Given the description of an element on the screen output the (x, y) to click on. 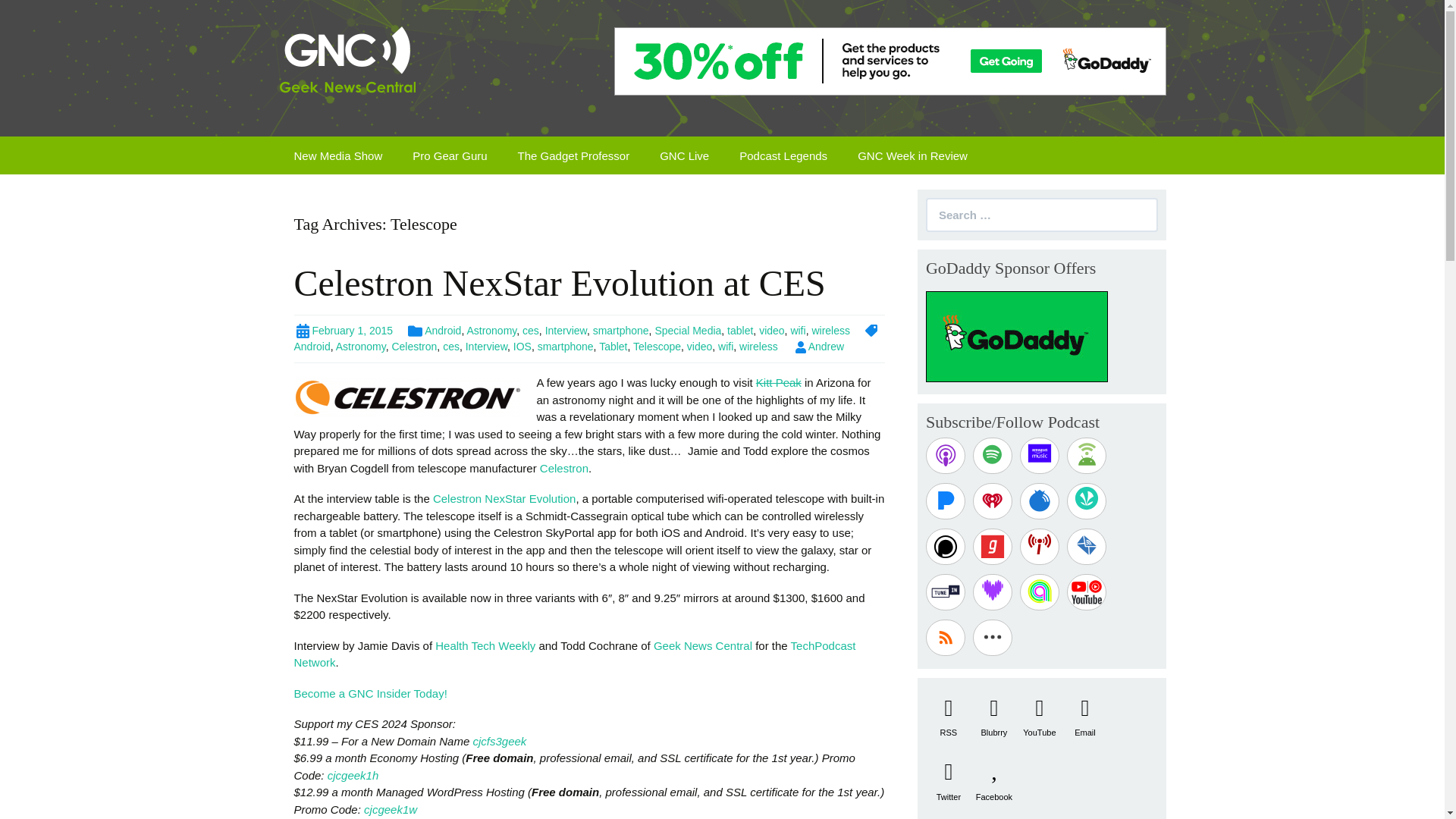
New Media Show (338, 155)
Android (434, 330)
tablet (739, 330)
wireless (758, 346)
Celestron NexStar Evolution (503, 498)
ces (530, 330)
Health Tech Weekly (485, 645)
View all posts by Andrew (818, 346)
Telescope (657, 346)
smartphone (565, 346)
wifi (725, 346)
Astronomy (490, 330)
ces (451, 346)
Tablet (612, 346)
The Gadget Professor (573, 155)
